Given the description of an element on the screen output the (x, y) to click on. 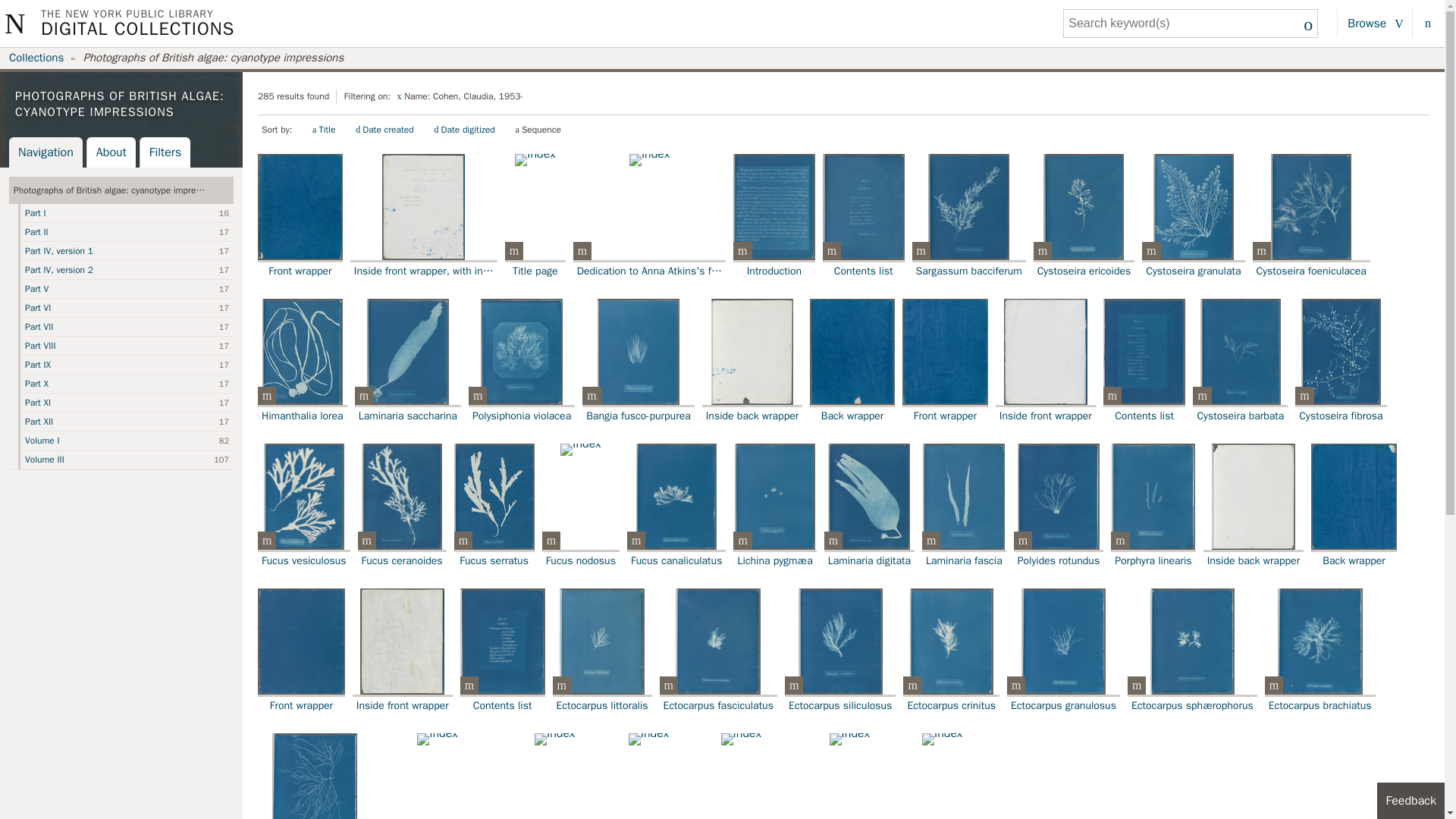
Collections (36, 57)
About Digital Collections (1425, 23)
Part XI (126, 402)
Part XII (126, 421)
Volume III (126, 459)
Part VI (126, 307)
Part XI (126, 402)
Part X (126, 383)
Part XII (126, 421)
Navigation (45, 152)
